Given the description of an element on the screen output the (x, y) to click on. 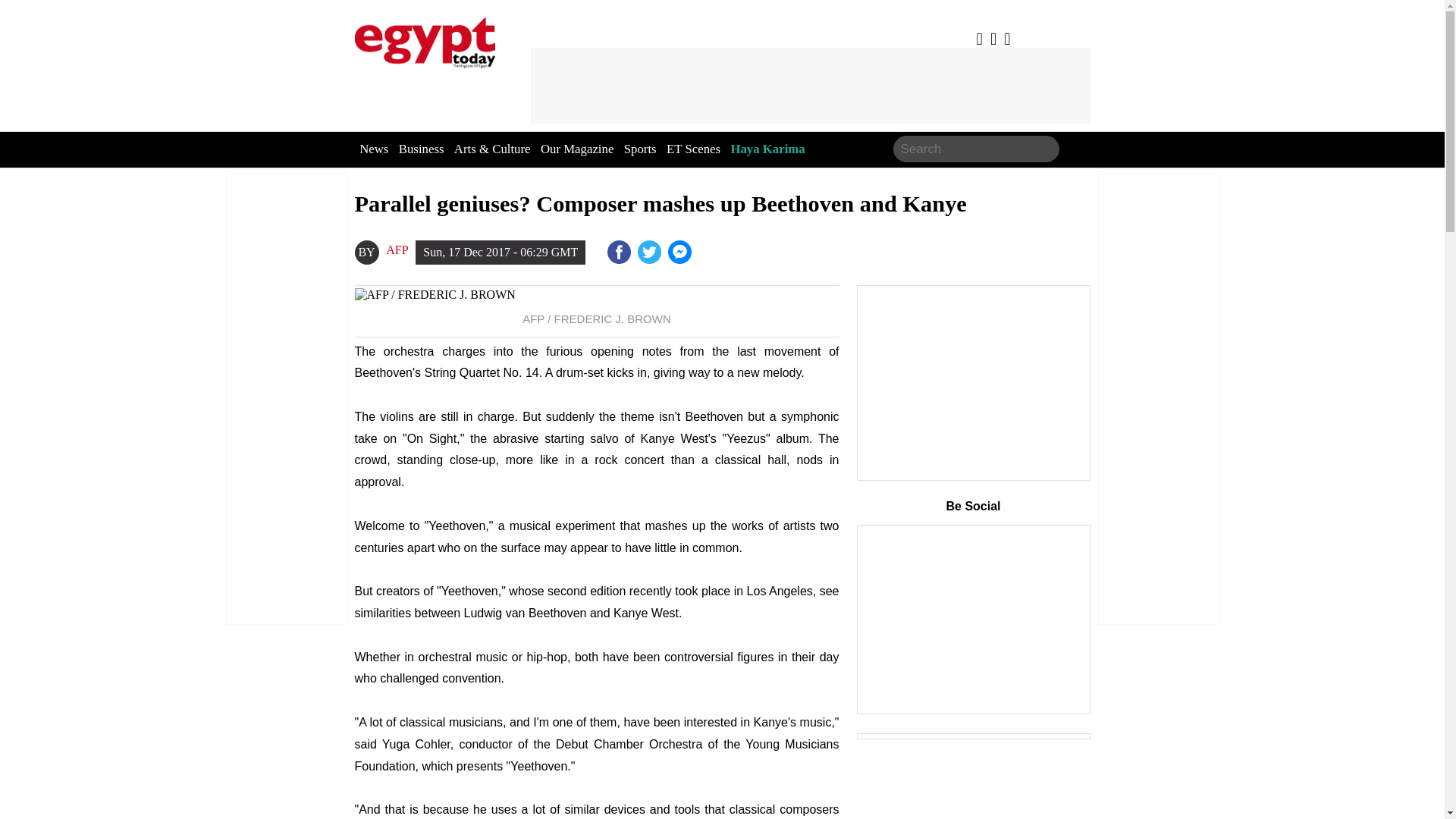
ET Scenes (693, 149)
Our Magazine (576, 149)
Haya Karima (767, 149)
Sisi heads to Guinea first destination in overseas tour (681, 251)
Business (421, 149)
EgyptToday (425, 39)
AFP (396, 250)
Sports (640, 149)
